Given the description of an element on the screen output the (x, y) to click on. 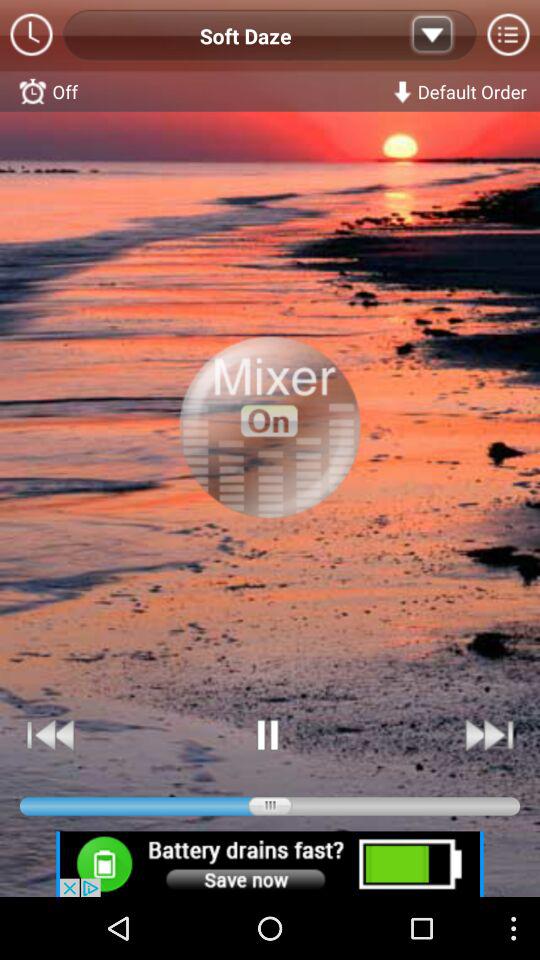
go to charge (270, 864)
